Given the description of an element on the screen output the (x, y) to click on. 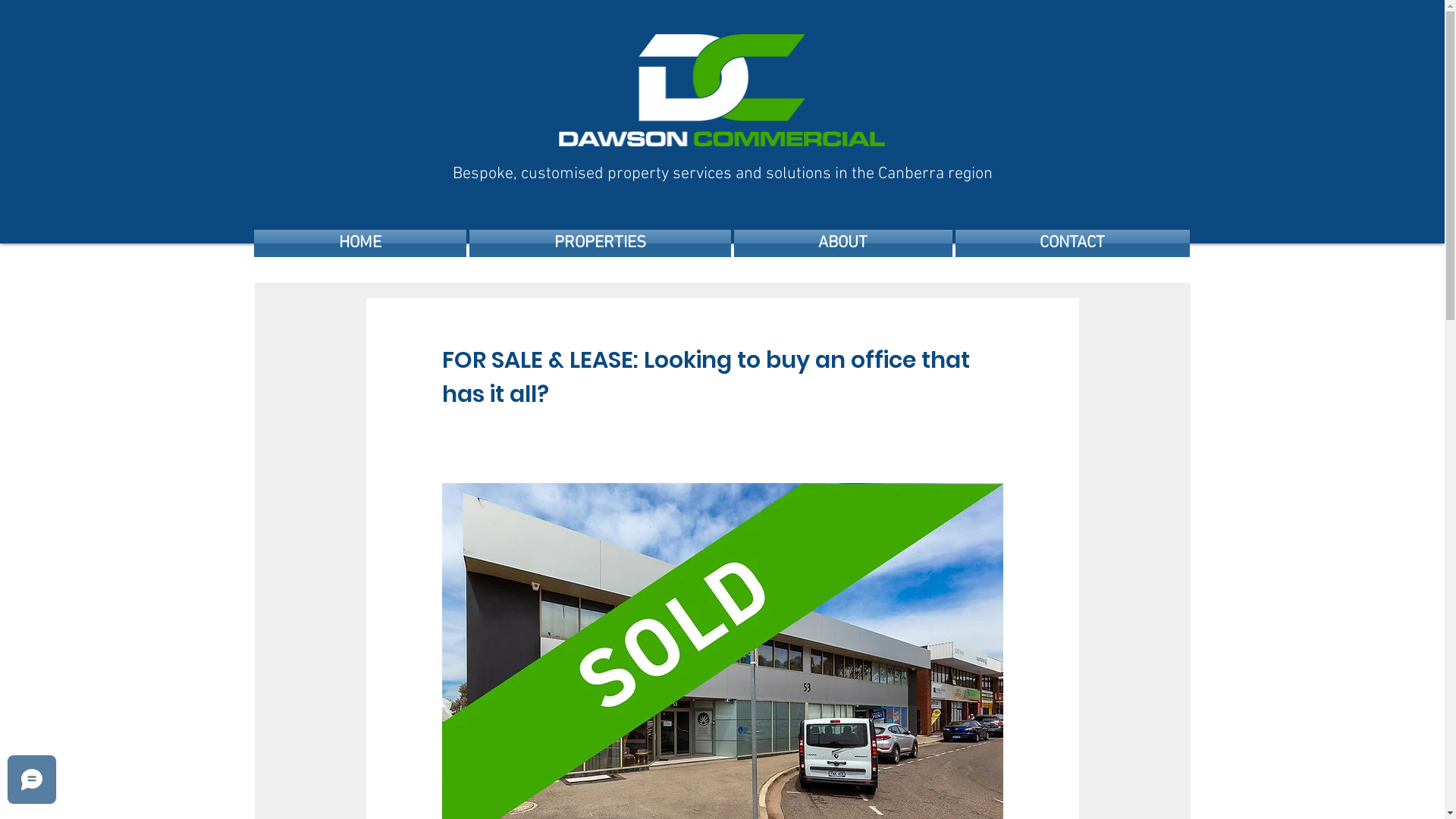
HOME Element type: text (360, 243)
CONTACT Element type: text (1071, 243)
PROPERTIES Element type: text (599, 243)
ABOUT Element type: text (842, 243)
